Given the description of an element on the screen output the (x, y) to click on. 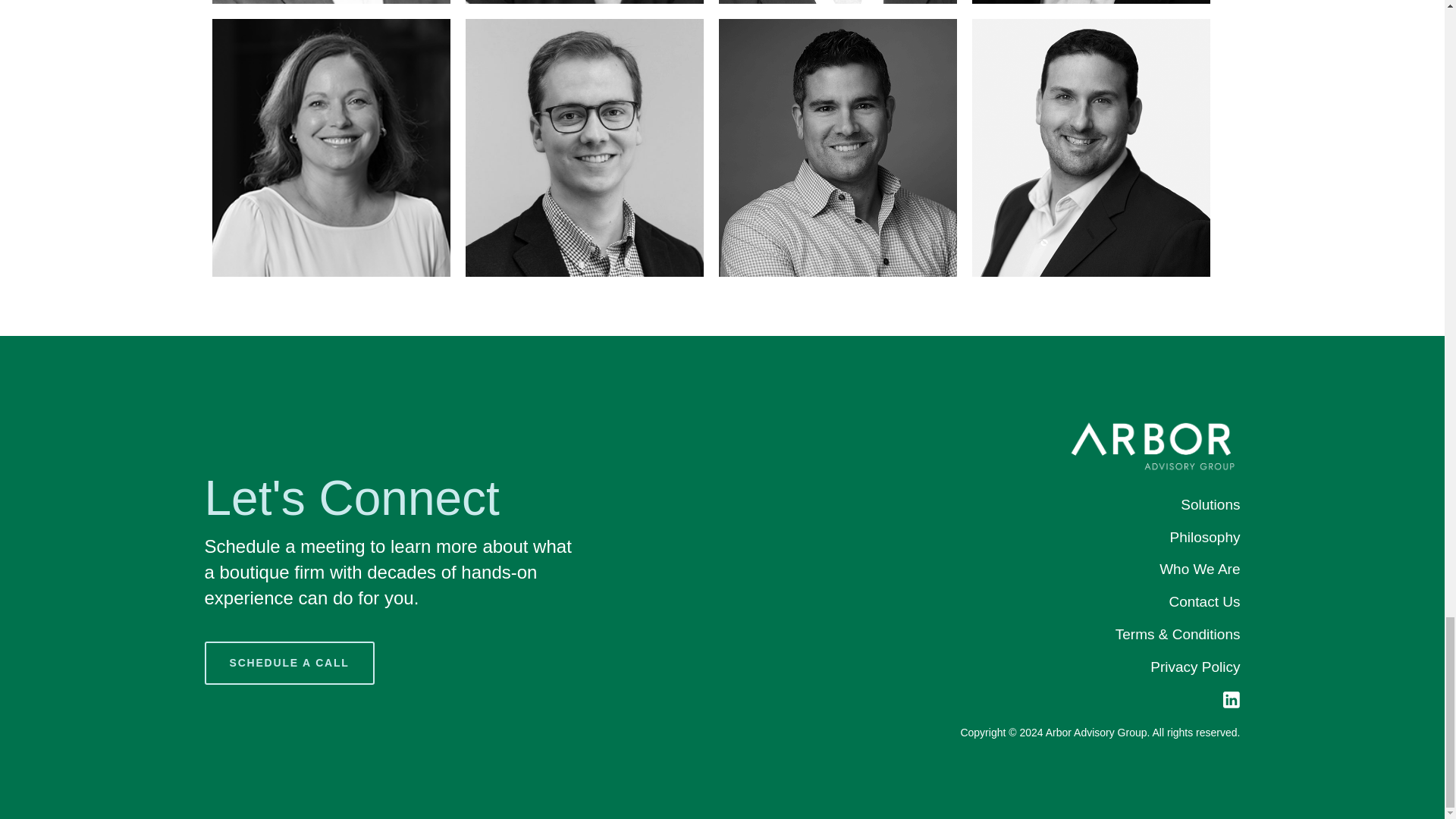
linkedin-blue (1231, 699)
